Given the description of an element on the screen output the (x, y) to click on. 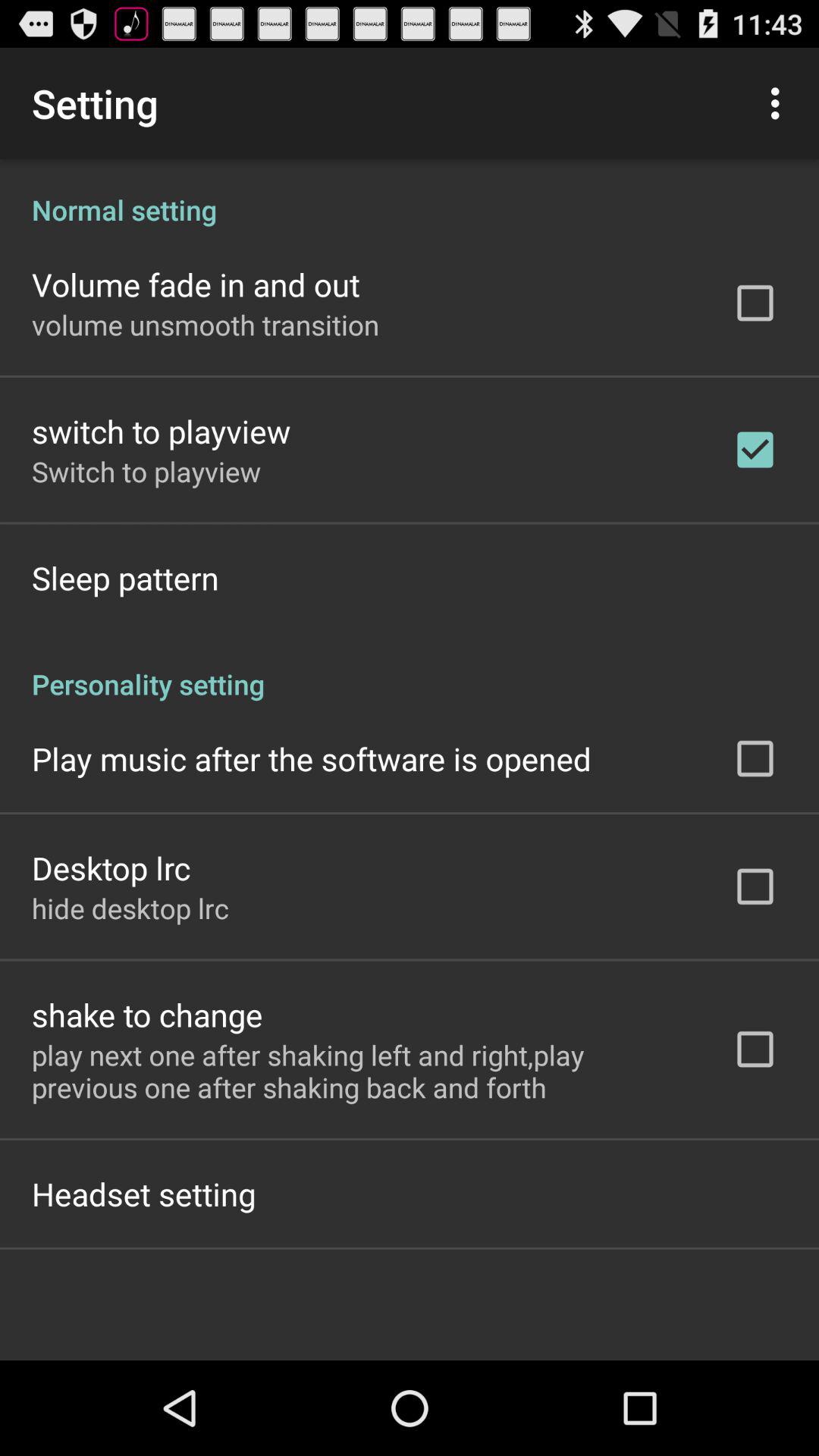
open icon next to setting app (779, 103)
